Given the description of an element on the screen output the (x, y) to click on. 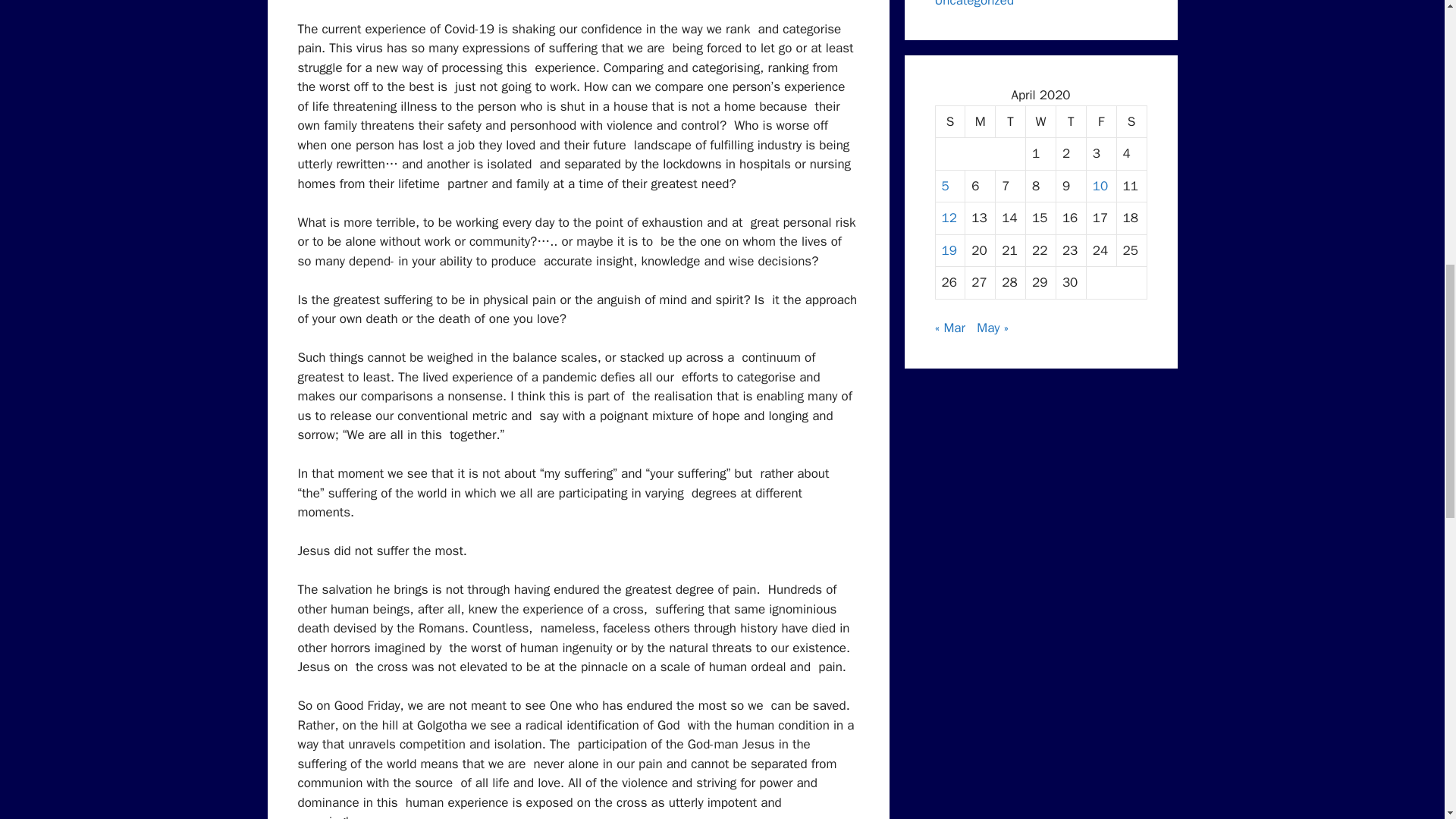
Wednesday (1041, 122)
Tuesday (1010, 122)
Scroll back to top (1406, 720)
Friday (1101, 122)
Sunday (951, 122)
Saturday (1131, 122)
Thursday (1071, 122)
Monday (980, 122)
